Given the description of an element on the screen output the (x, y) to click on. 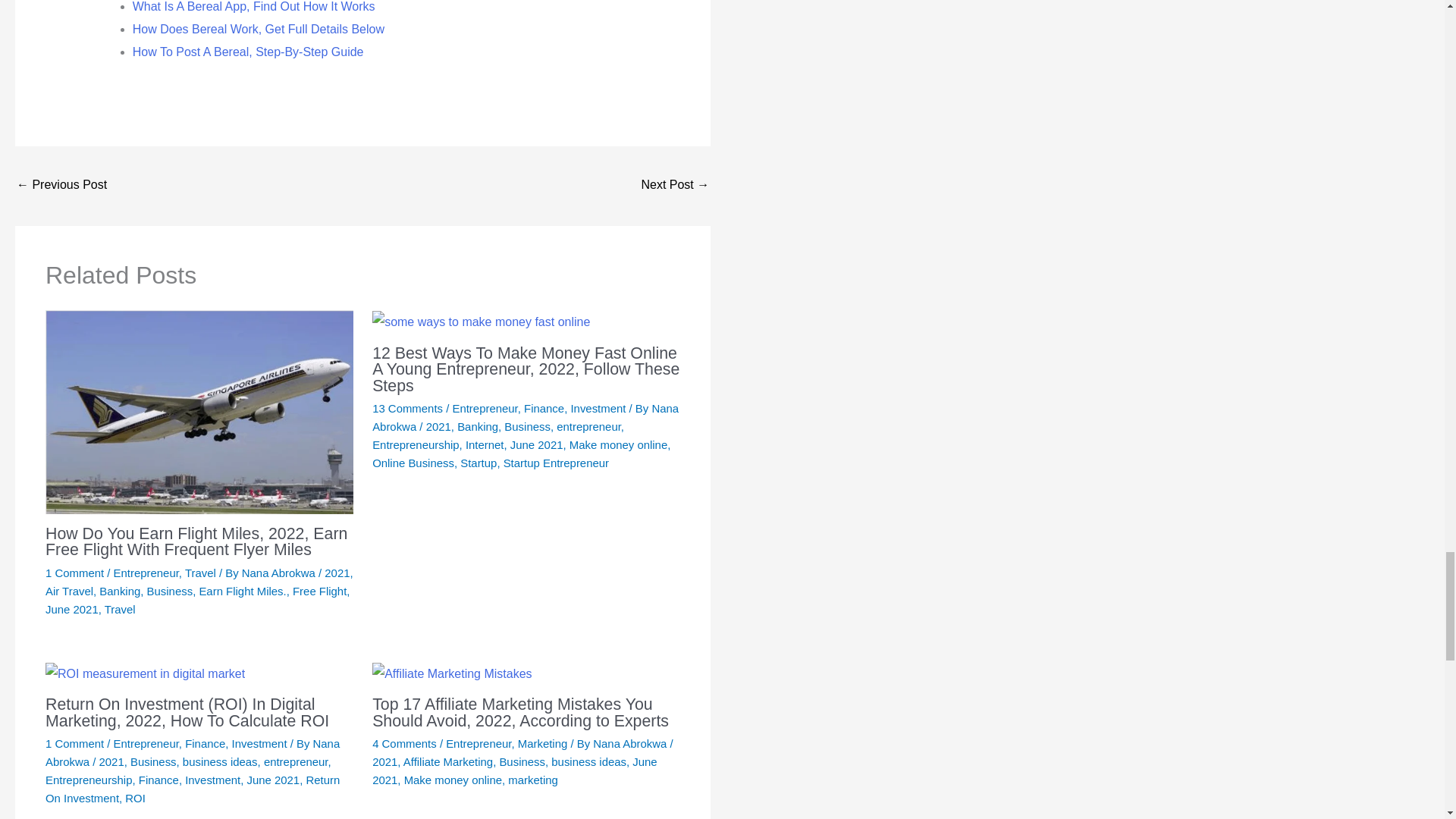
What Is A Bereal App, Find Out How It Works (253, 6)
View all posts by Nana Abrokwa (630, 743)
1 Comment (74, 572)
View all posts by Nana Abrokwa (525, 417)
Entrepreneur (146, 572)
How To Post A Bereal, Step-By-Step Guide (248, 51)
How Does Bereal Work, Get Full Details Below (258, 29)
View all posts by Nana Abrokwa (279, 572)
